Given the description of an element on the screen output the (x, y) to click on. 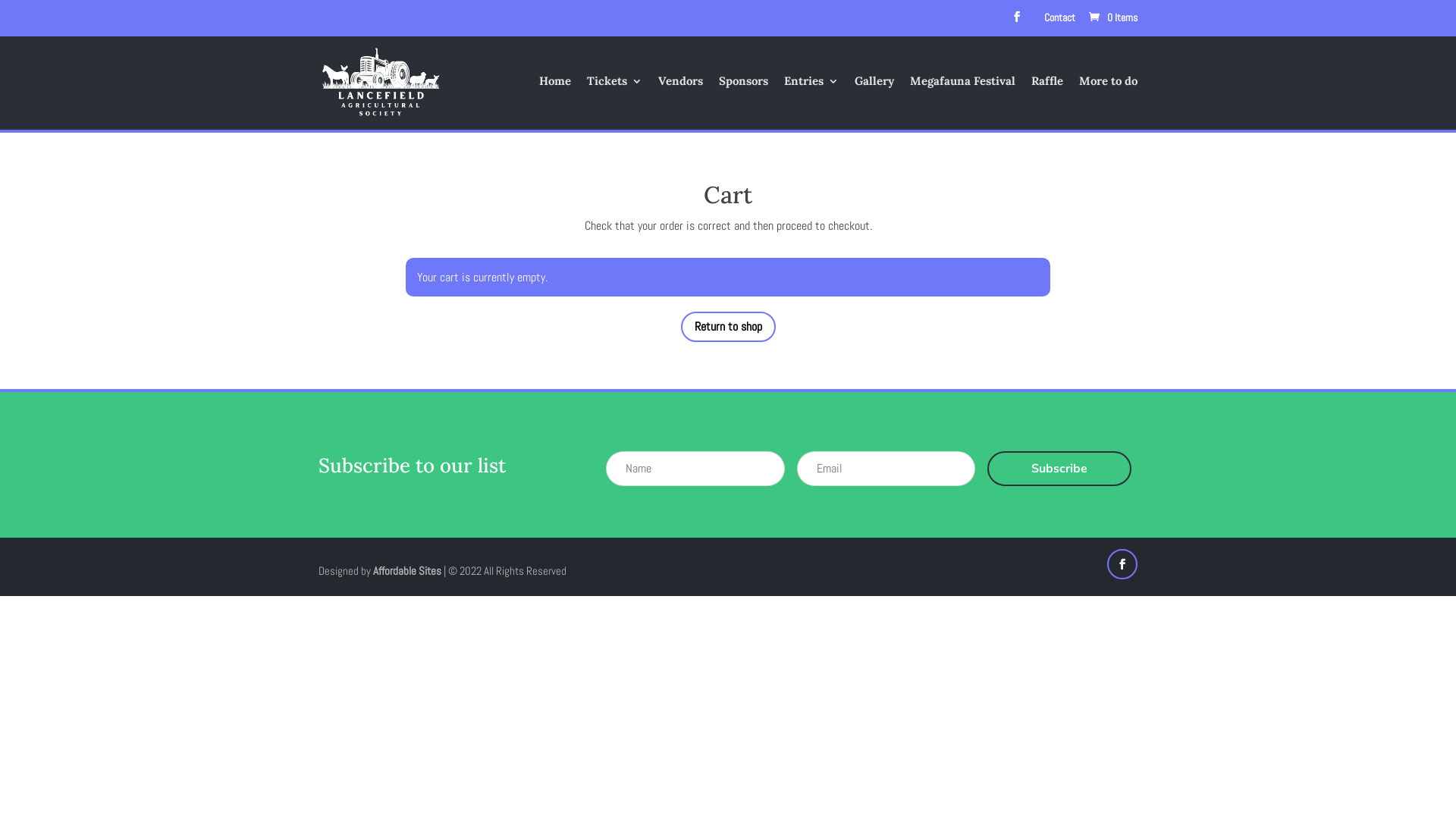
Megafauna Festival Element type: text (962, 102)
0 Items Element type: text (1111, 17)
More to do Element type: text (1108, 102)
Sponsors Element type: text (743, 102)
Contact Element type: text (1059, 17)
Subscribe Element type: text (1059, 468)
Raffle Element type: text (1047, 102)
Affordable Sites Element type: text (407, 570)
Entries Element type: text (811, 102)
Vendors Element type: text (680, 102)
Home Element type: text (555, 102)
Gallery Element type: text (874, 102)
Tickets Element type: text (614, 102)
Return to shop Element type: text (727, 326)
